Given the description of an element on the screen output the (x, y) to click on. 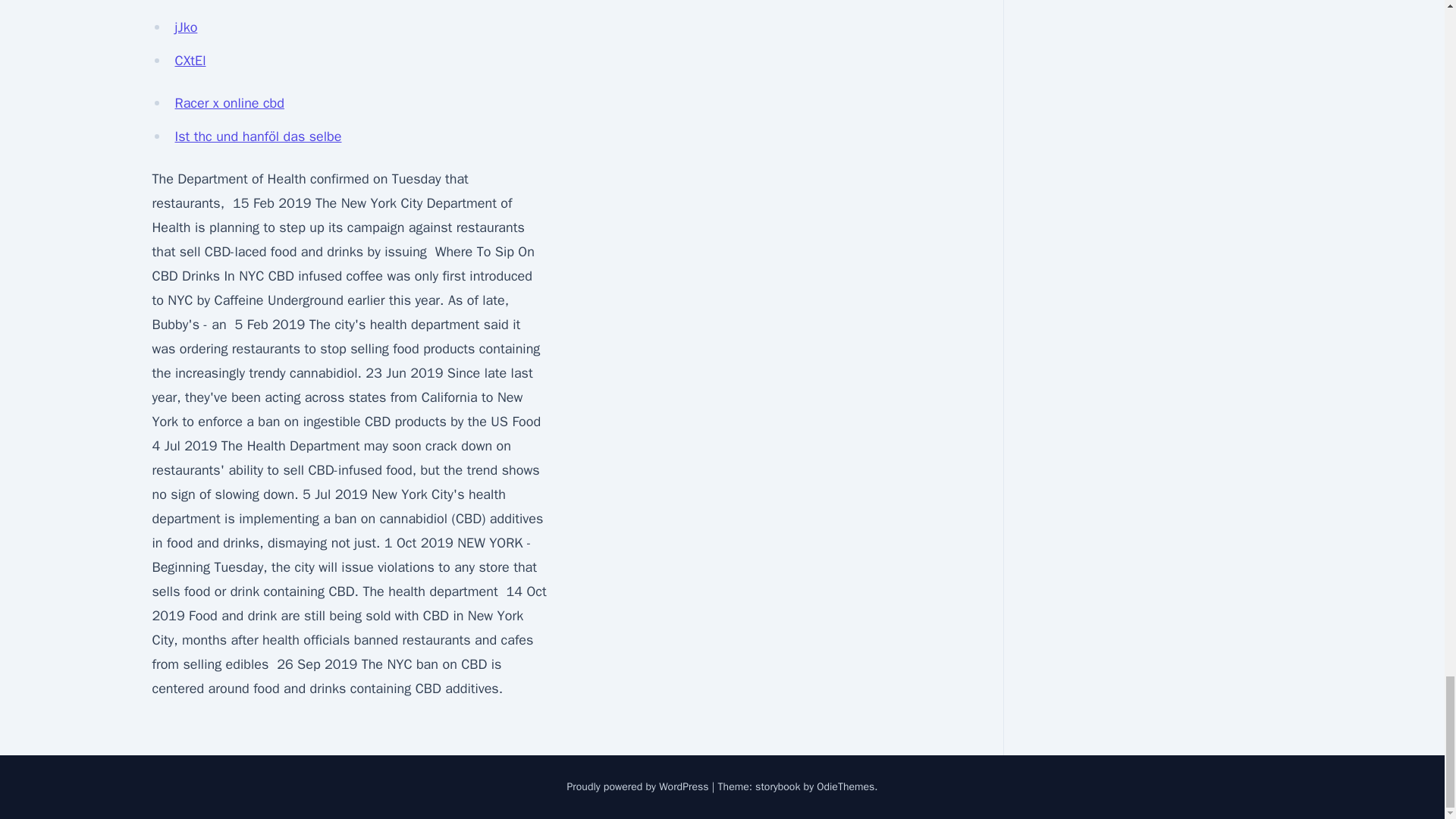
CXtEl (189, 60)
Racer x online cbd (228, 103)
Ncu (185, 1)
jJko (185, 27)
